Given the description of an element on the screen output the (x, y) to click on. 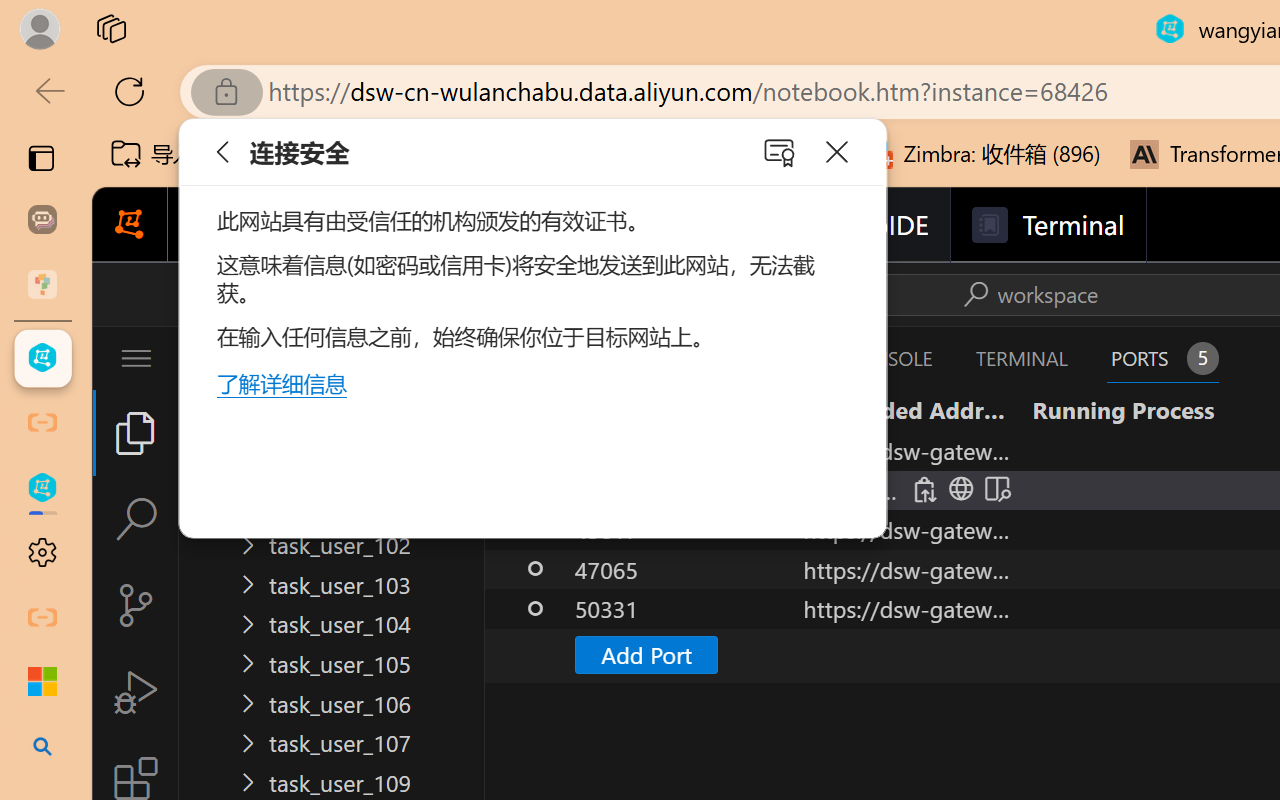
Run and Debug (Ctrl+Shift+D) (135, 692)
wangyian_dsw - DSW (42, 357)
Add Port (645, 654)
Class: actions-container (1027, 294)
